Given the description of an element on the screen output the (x, y) to click on. 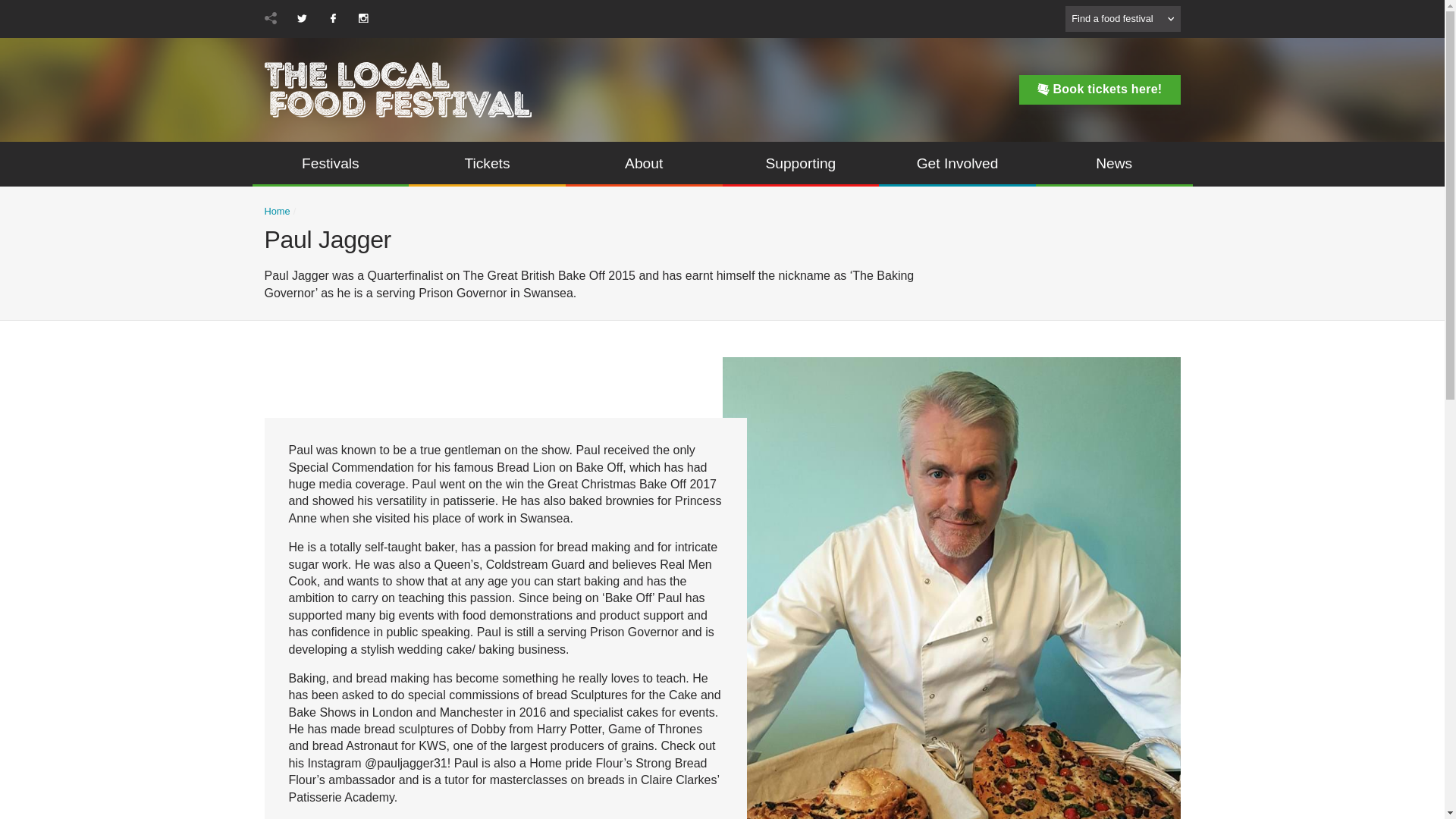
The Local Food Festival on Instagram (362, 18)
News (1113, 163)
The Local Food Festival on Facebook (332, 18)
Get Involved (957, 163)
The Local Food Festival on Twitter (301, 18)
Book tickets here! (1099, 89)
Tickets (487, 163)
Supporting (800, 163)
Home (276, 211)
